Given the description of an element on the screen output the (x, y) to click on. 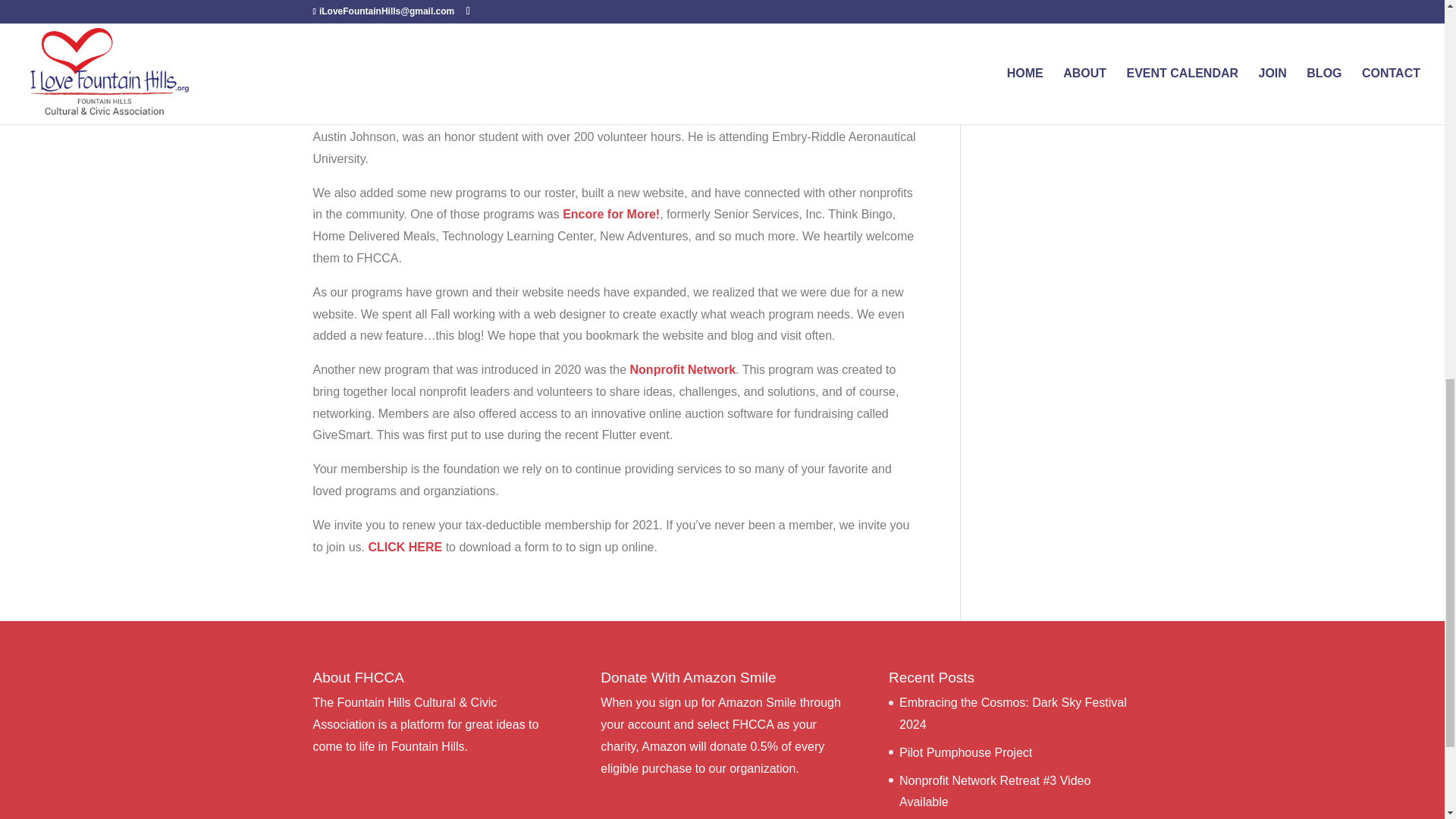
Amazon Smile (756, 702)
CLICK HERE (405, 546)
Nonprofit Network (683, 369)
Embracing the Cosmos: Dark Sky Festival 2024 (1012, 713)
Encore for More! (610, 214)
Dark Sky Festival (469, 15)
Pilot Pumphouse Project (965, 752)
Leadership Academy (373, 37)
Golden Eagle Education Foundation (722, 114)
